Given the description of an element on the screen output the (x, y) to click on. 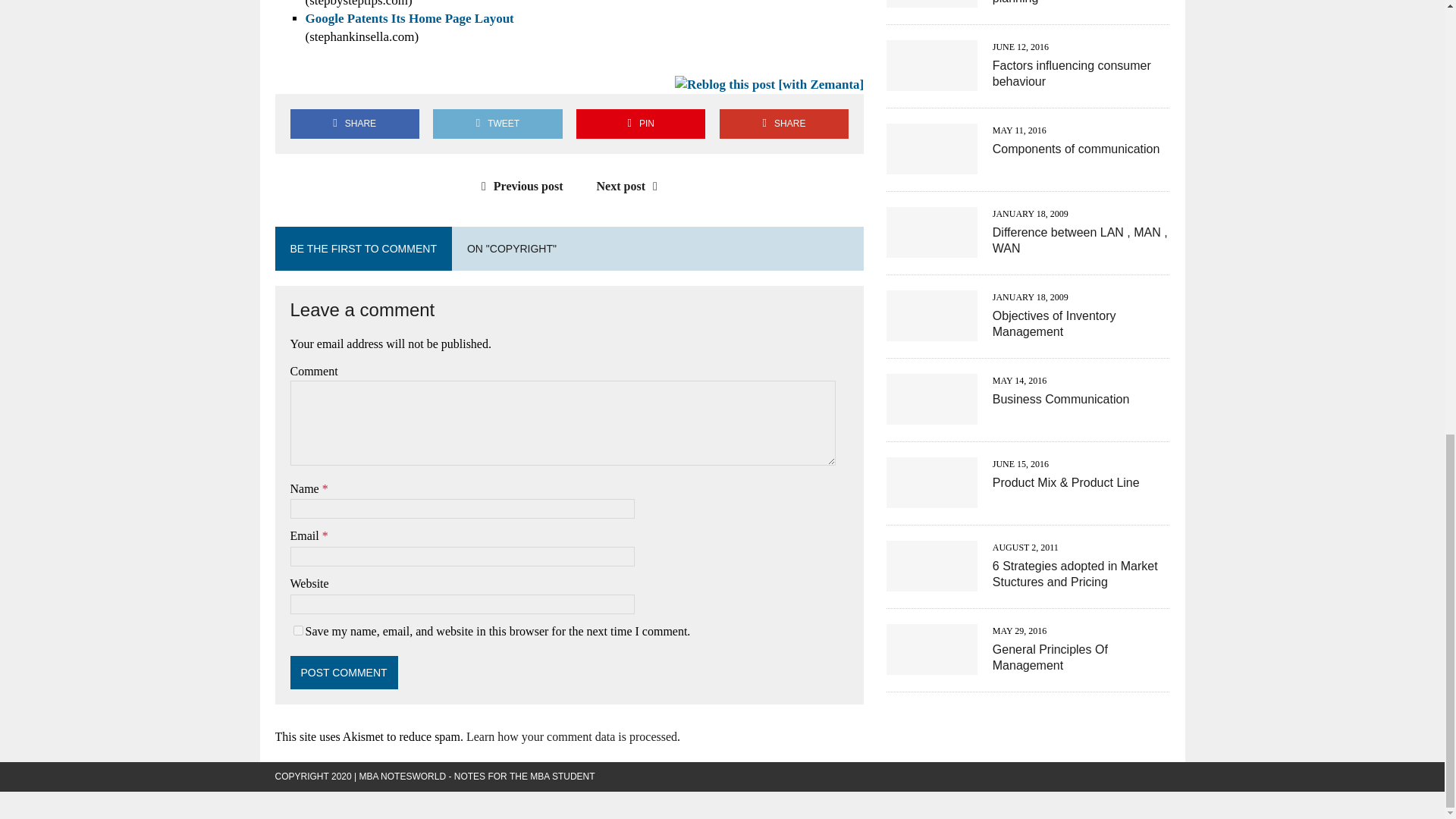
PIN (640, 123)
TWEET (497, 123)
Pin This Post (640, 123)
yes (297, 630)
Share on Facebook (354, 123)
Google Patents Its Home Page Layout (408, 18)
Tweet This Post (497, 123)
Post Comment (343, 672)
Copyright 4 (769, 85)
SHARE (354, 123)
